Given the description of an element on the screen output the (x, y) to click on. 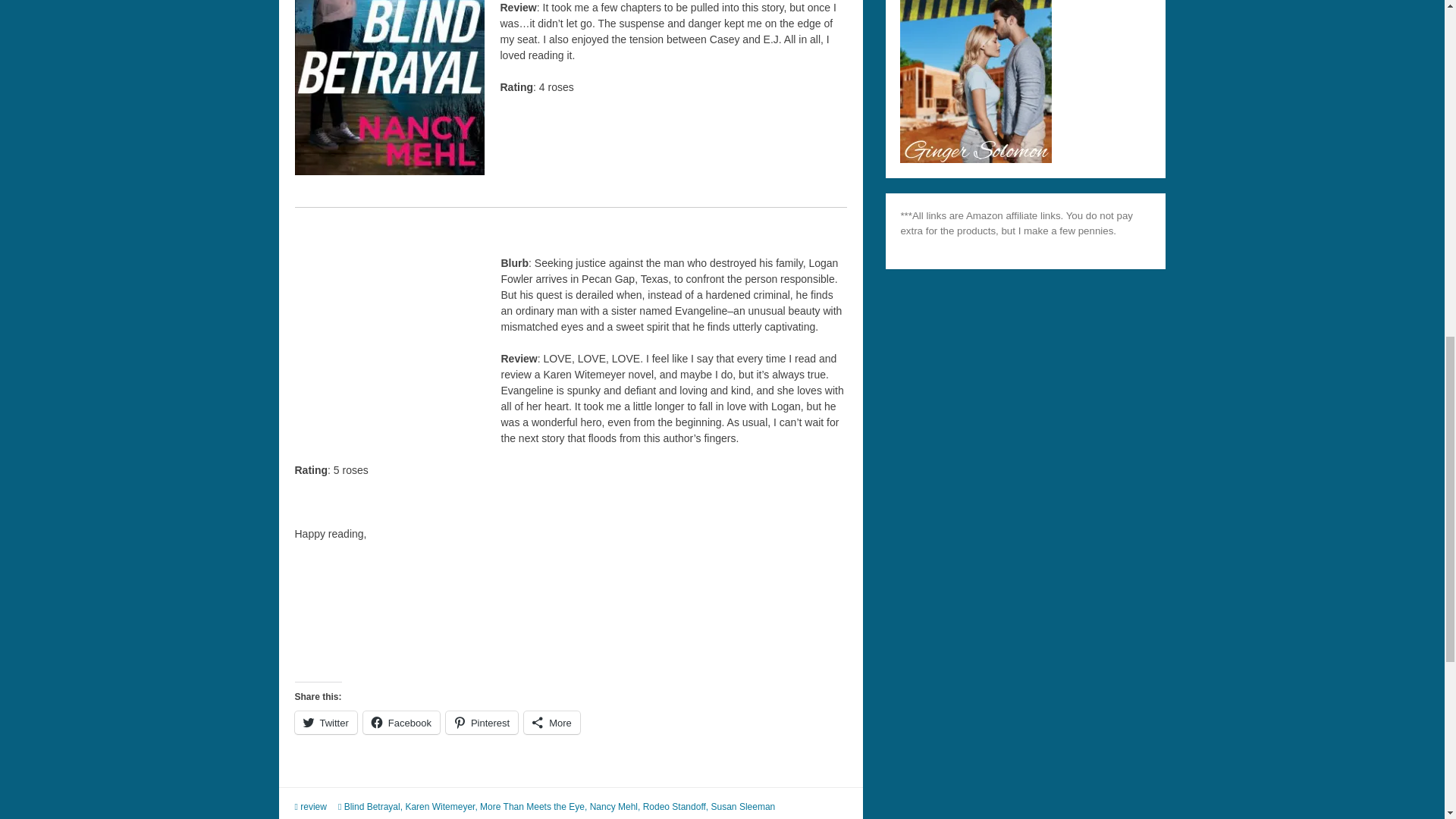
Rodeo Standoff (674, 806)
Karen Witemeyer (439, 806)
Blind Betrayal (371, 806)
Click to share on Twitter (325, 722)
Facebook (400, 722)
More Than Meets the Eye (532, 806)
Susan Sleeman (743, 806)
Pinterest (481, 722)
Twitter (325, 722)
Nancy Mehl (613, 806)
More (551, 722)
Click to share on Pinterest (481, 722)
Click to share on Facebook (400, 722)
review (312, 806)
